Given the description of an element on the screen output the (x, y) to click on. 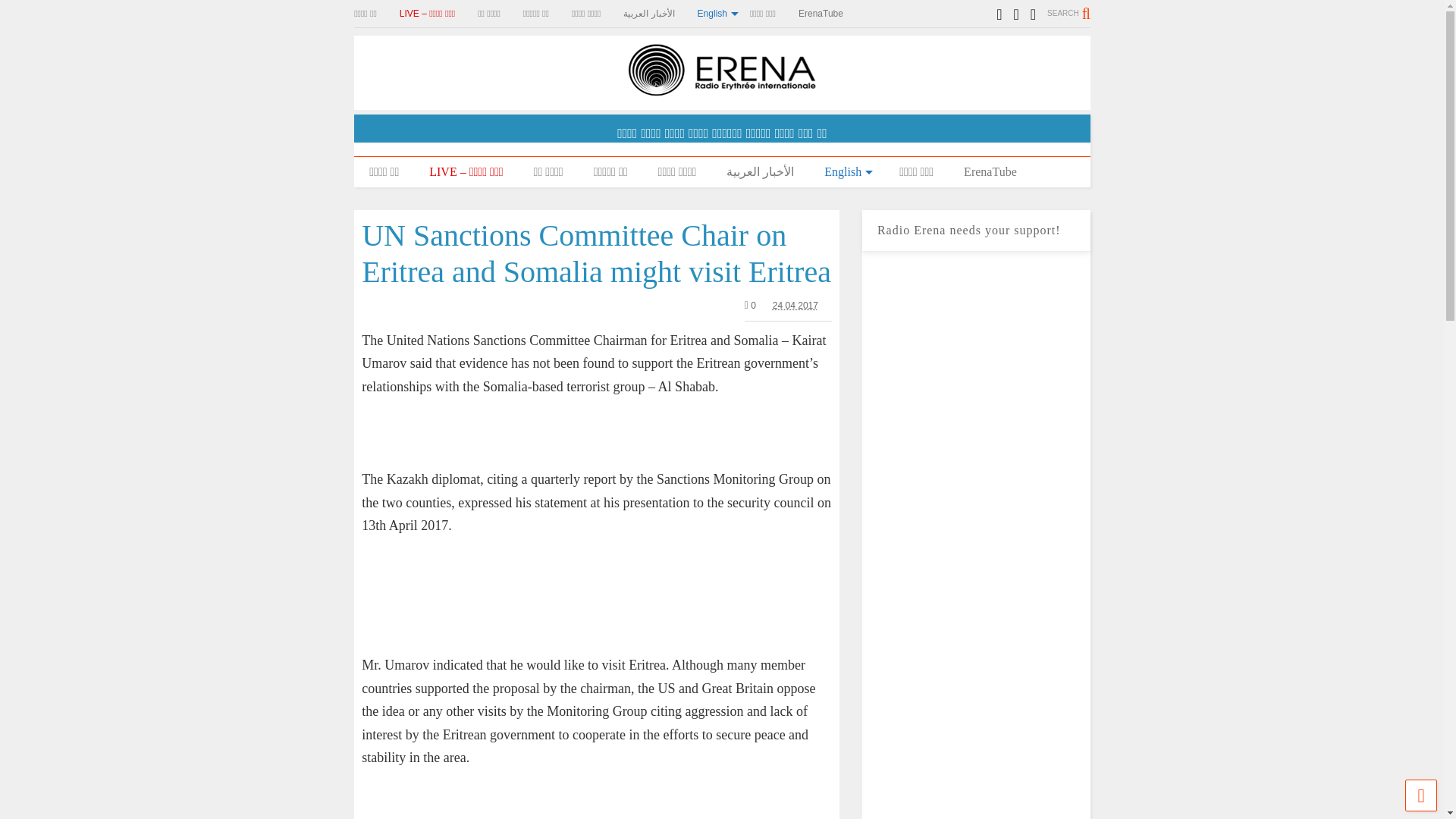
SEARCH (1068, 13)
ErenaTube (990, 172)
English (723, 13)
24 04 2017 5:19 pm (795, 305)
English (846, 172)
RADIO ERENA (721, 89)
ErenaTube (831, 13)
